Given the description of an element on the screen output the (x, y) to click on. 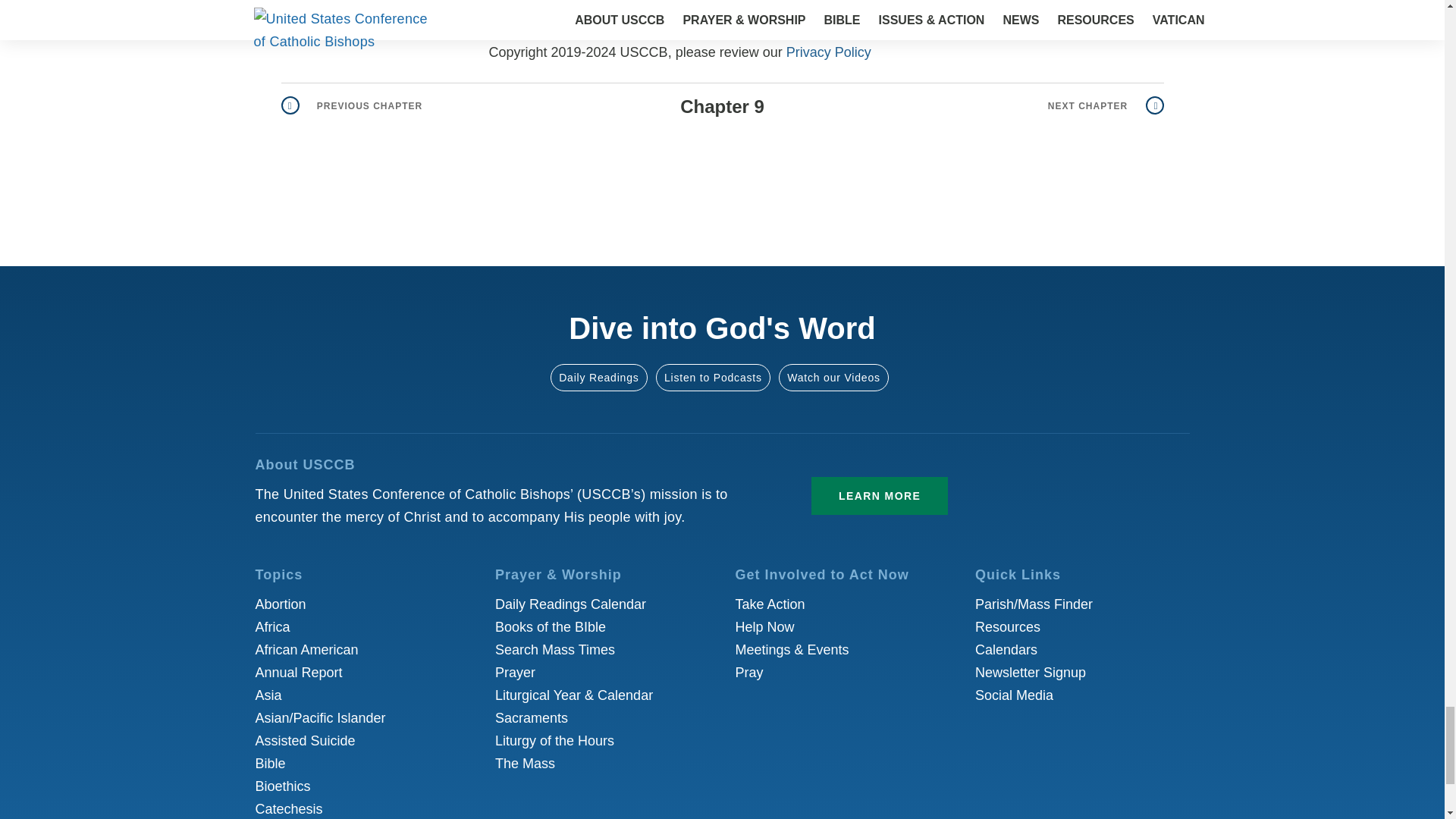
Go to next page (1105, 106)
Go to previous page (351, 106)
